Given the description of an element on the screen output the (x, y) to click on. 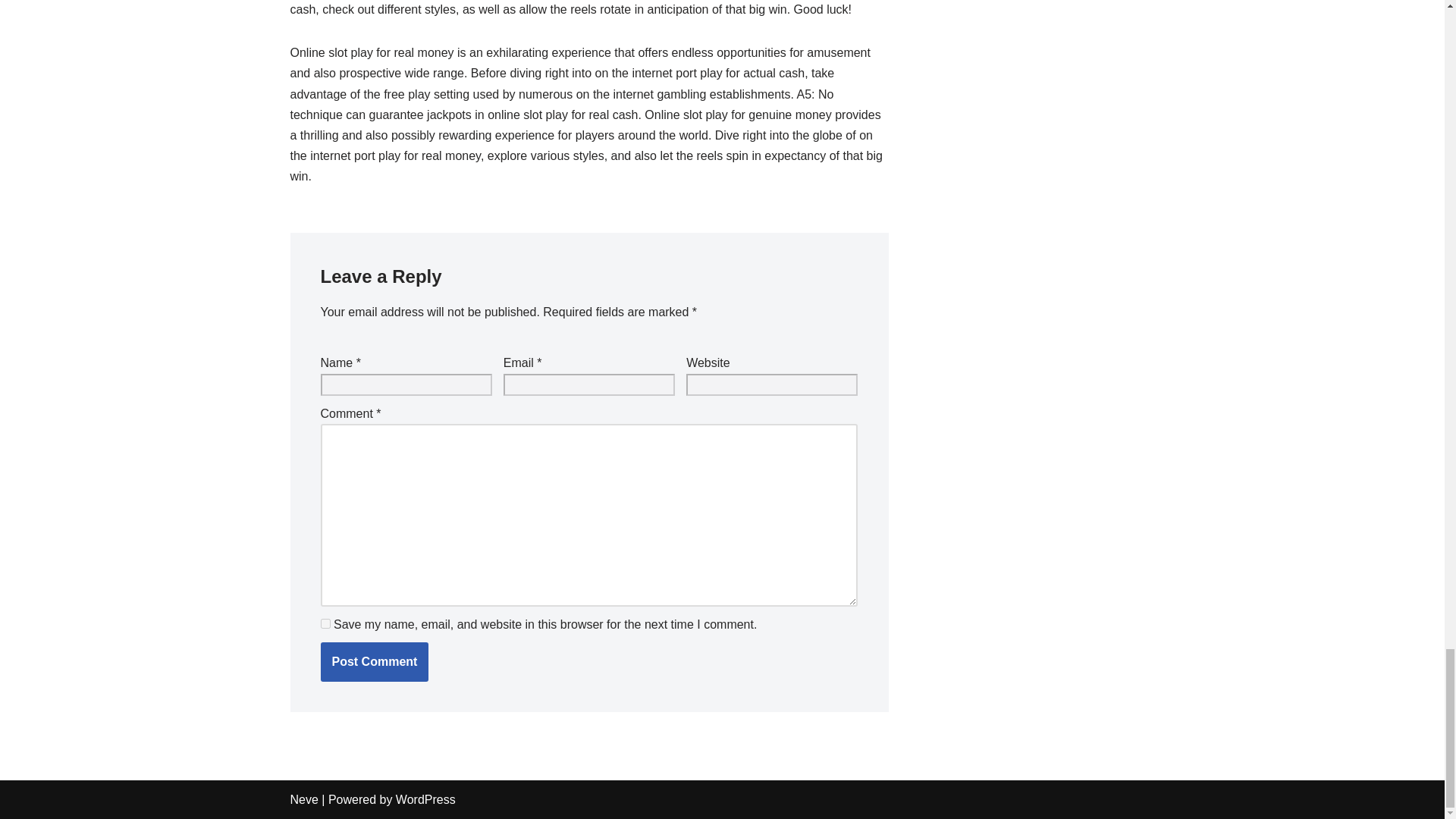
Post Comment (374, 661)
yes (325, 623)
Post Comment (374, 661)
